Given the description of an element on the screen output the (x, y) to click on. 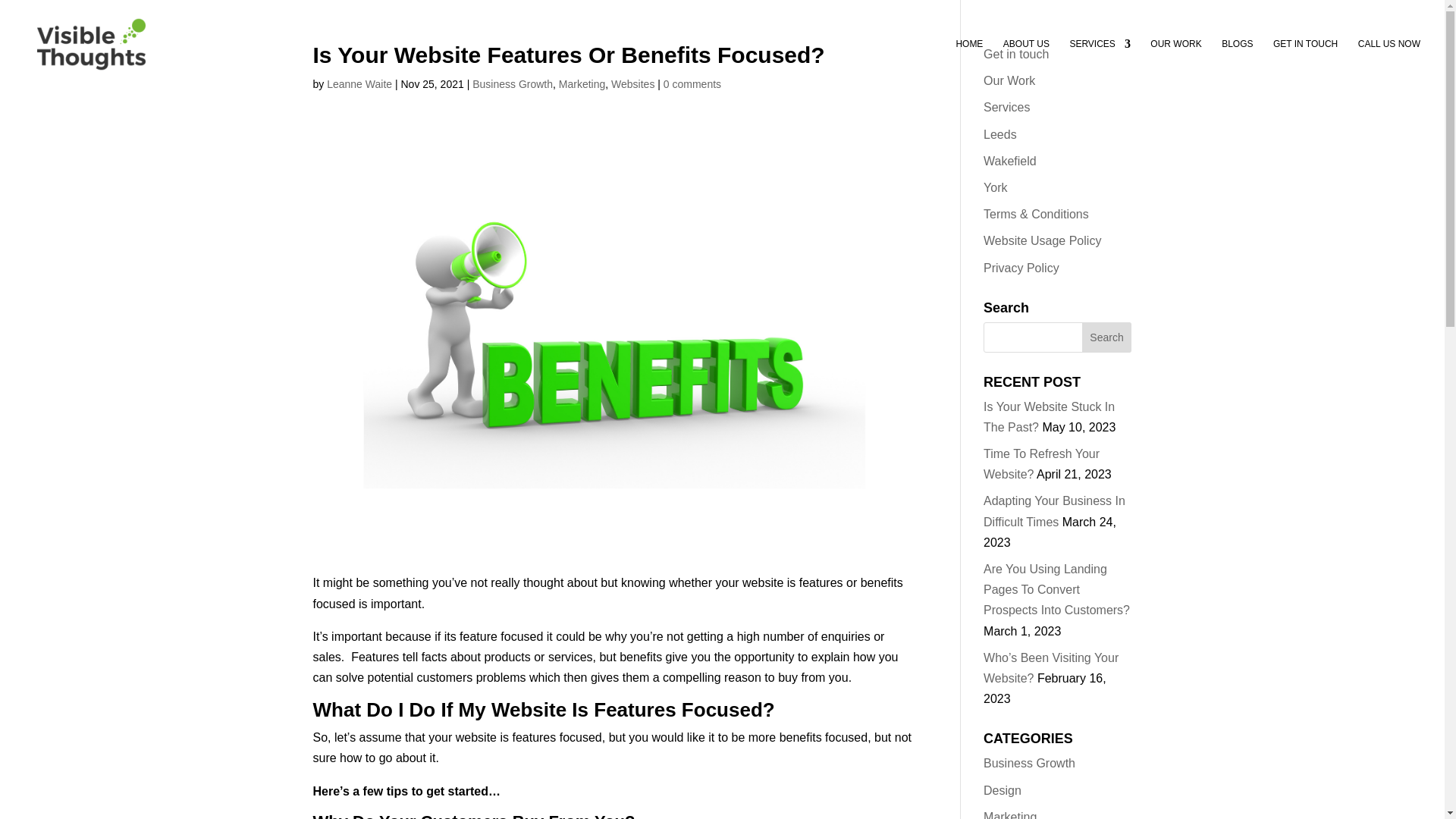
Services (1006, 106)
Time To Refresh Your Website? (1041, 463)
Search (1106, 337)
Wakefield (1010, 160)
Posts by Leanne Waite (358, 83)
0 comments (691, 83)
OUR WORK (1175, 62)
GET IN TOUCH (1305, 62)
Leeds (1000, 133)
Business Growth (512, 83)
Websites (632, 83)
Search (1106, 337)
Adapting Your Business In Difficult Times (1054, 510)
Get in touch (1016, 53)
